Given the description of an element on the screen output the (x, y) to click on. 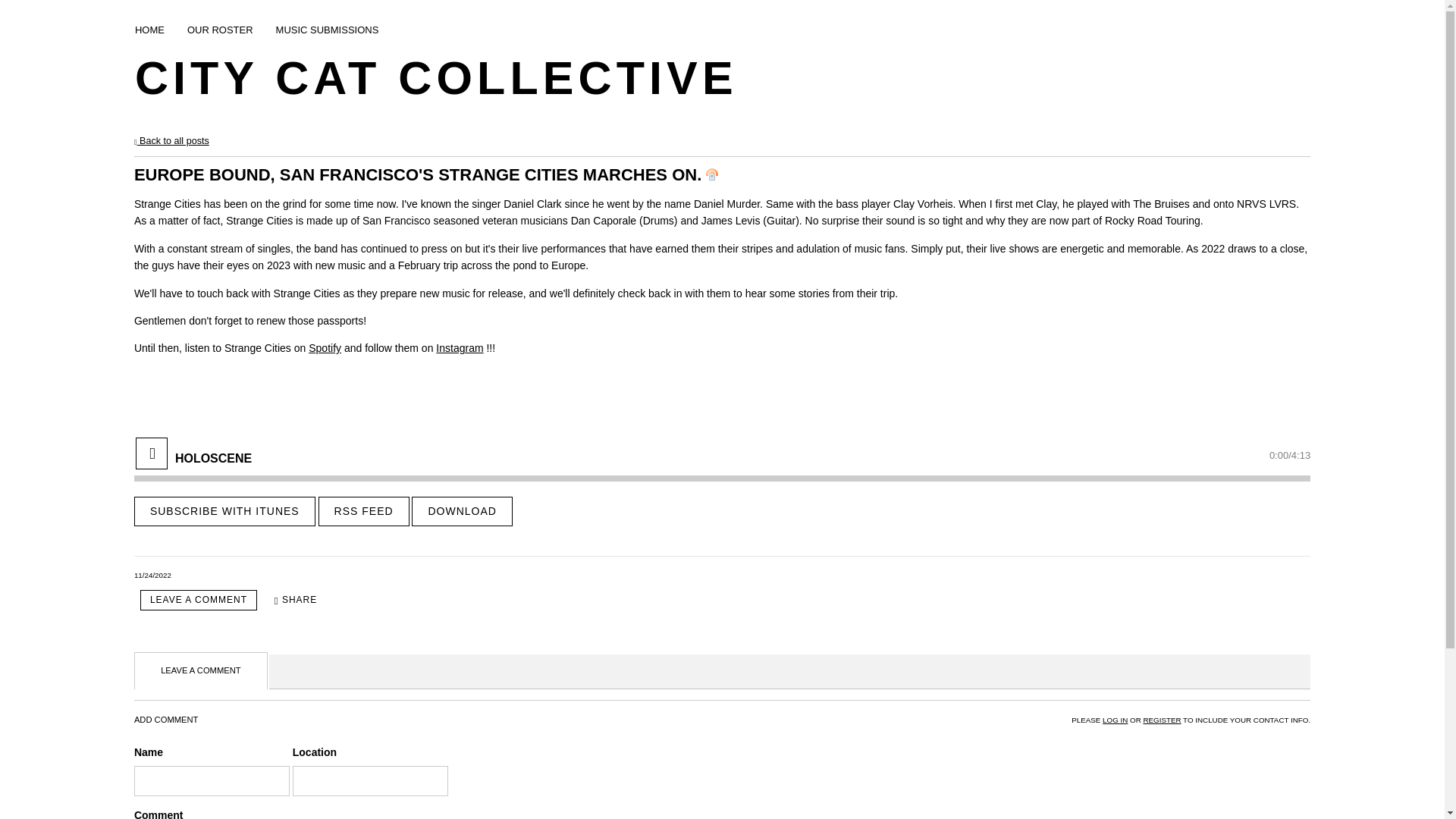
MUSIC SUBMISSIONS (327, 33)
Back to all posts (171, 140)
Instagram (459, 347)
RSS FEED (363, 511)
LOG IN (1114, 719)
SUBSCRIBE WITH ITUNES (224, 511)
DOWNLOAD (462, 511)
OUR ROSTER (220, 33)
REGISTER (1161, 719)
November 24, 2022 12:39 (152, 574)
